Given the description of an element on the screen output the (x, y) to click on. 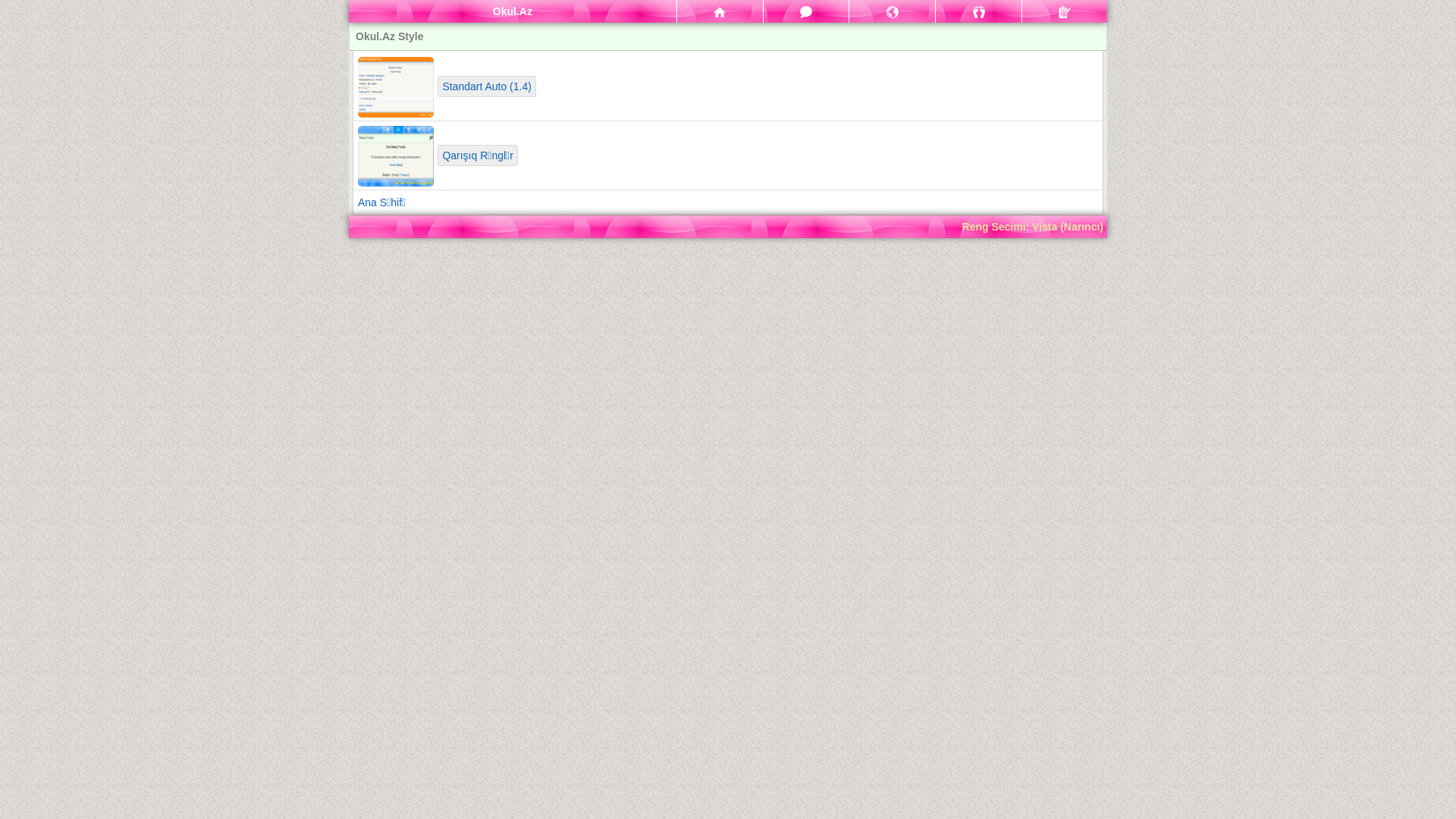
Qeydiyyat Element type: hover (1064, 11)
Qonaqlar Element type: hover (978, 11)
Standart Auto (1.4) Element type: text (486, 86)
Bildirisler Element type: hover (892, 11)
Mesajlar Element type: hover (806, 11)
